Given the description of an element on the screen output the (x, y) to click on. 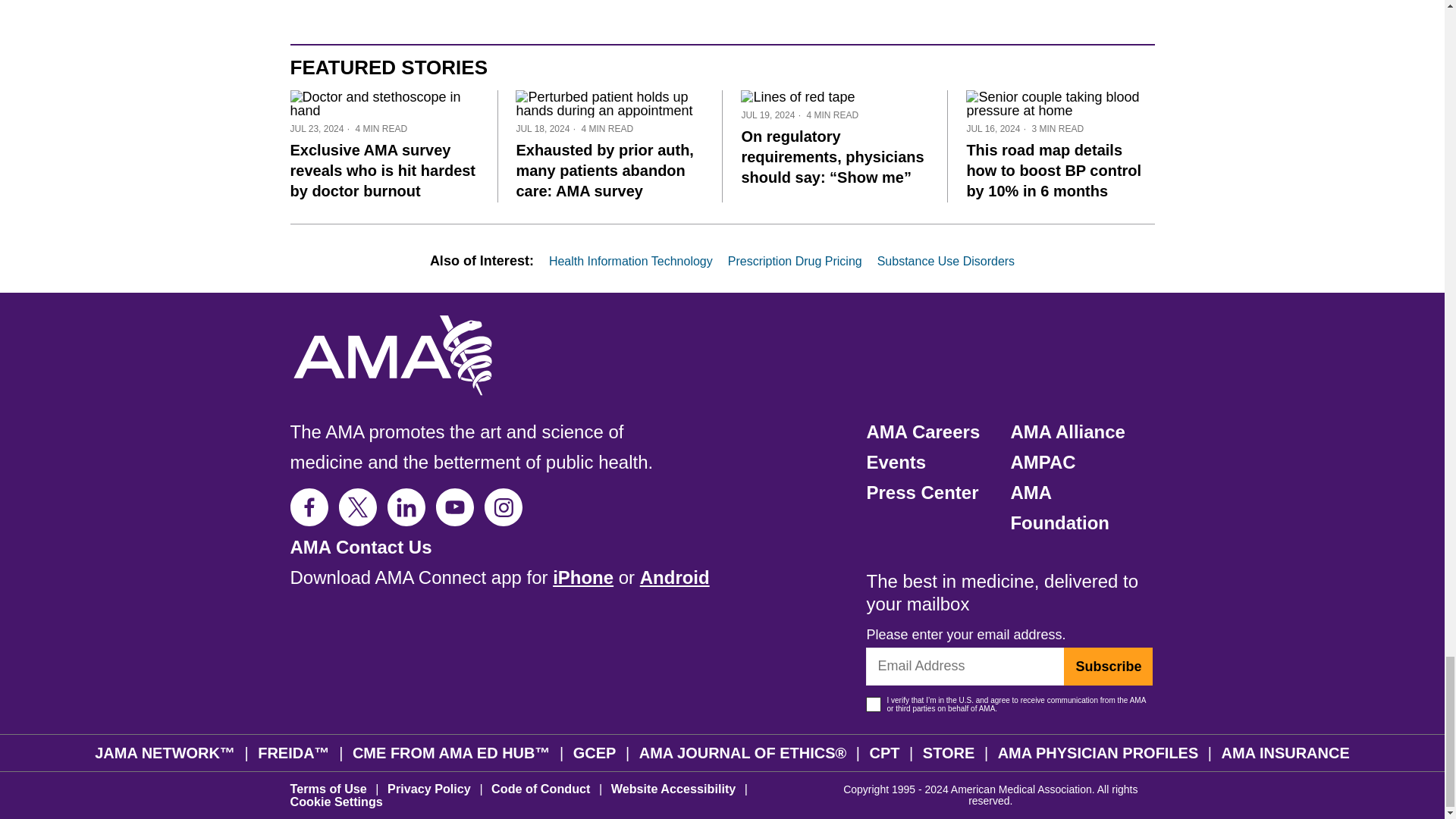
Subscribe (1108, 666)
